Given the description of an element on the screen output the (x, y) to click on. 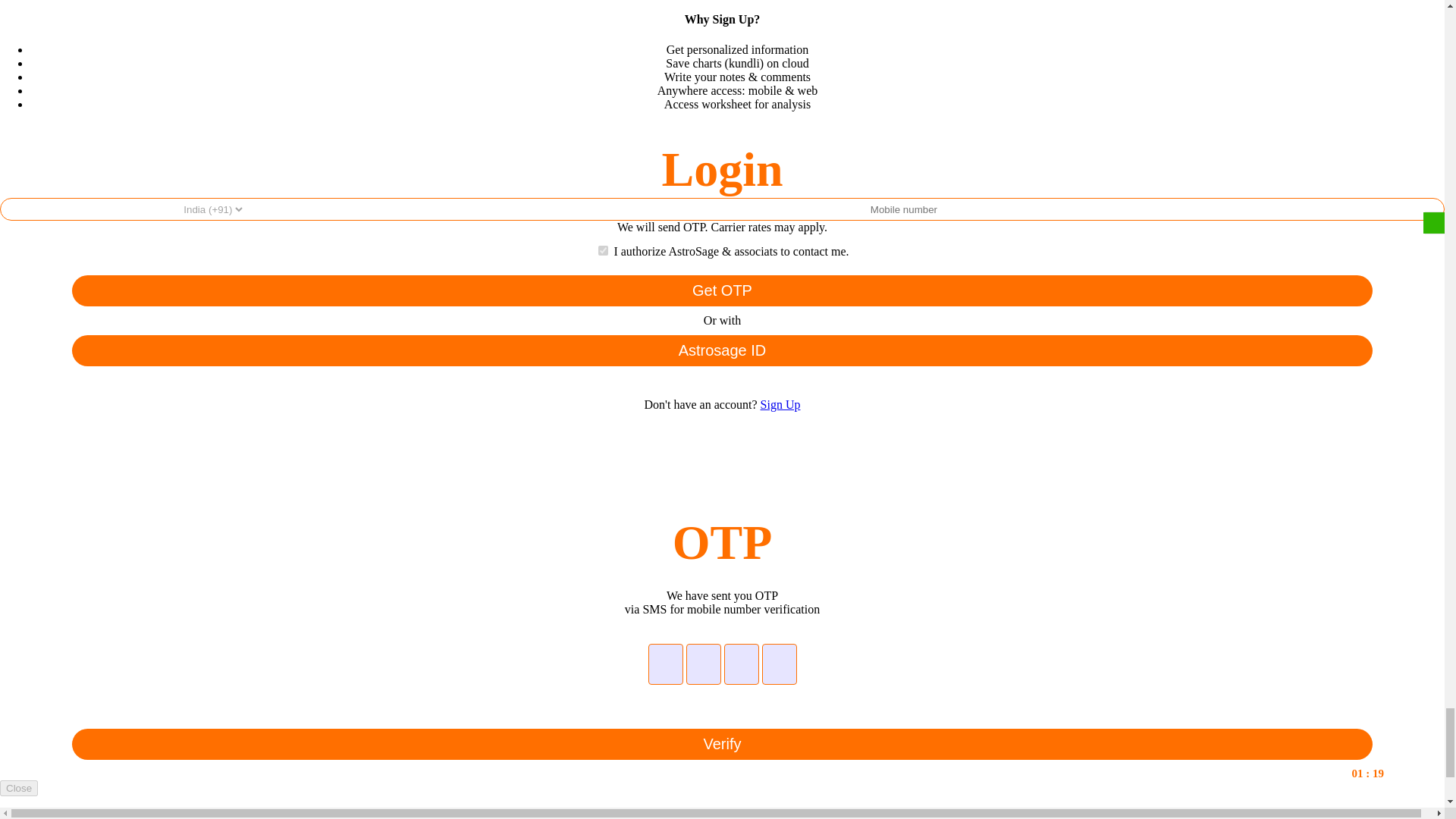
on (603, 250)
